Given the description of an element on the screen output the (x, y) to click on. 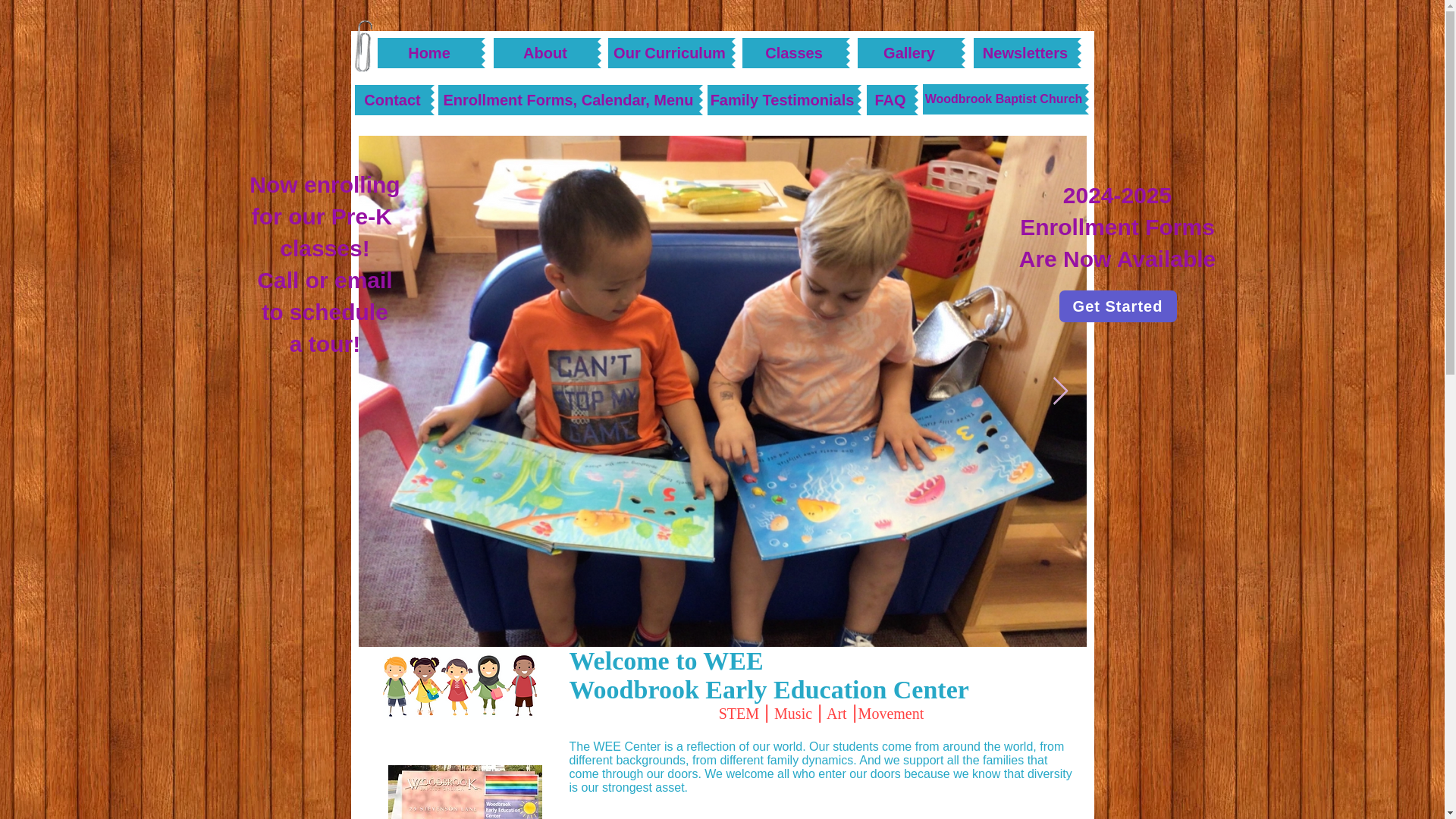
Contact (392, 100)
Newsletters (1025, 52)
Our Curriculum (670, 52)
Woodbrook Baptist Church (1002, 99)
Home (429, 52)
Get Started (1117, 306)
Family Testimonials (781, 100)
Classes (793, 52)
FAQ (890, 100)
Enrollment Forms, Calendar, Menu (568, 100)
